Given the description of an element on the screen output the (x, y) to click on. 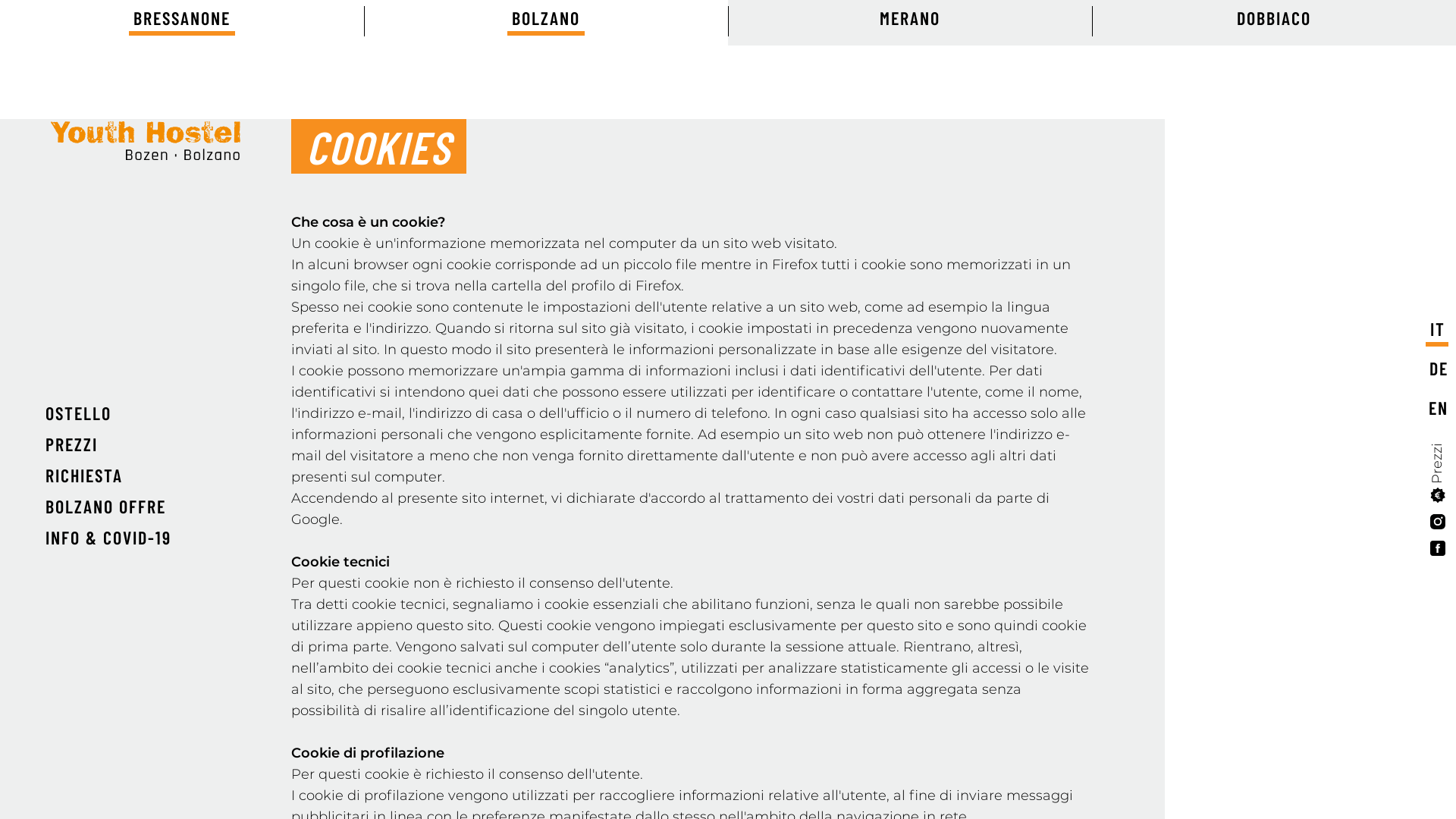
BRESSANONE Element type: text (182, 21)
BOLZANO OFFRE Element type: text (105, 506)
RICHIESTA Element type: text (83, 475)
Instagram Element type: hover (1429, 528)
Facebook Element type: hover (1429, 555)
MERANO Element type: text (910, 21)
PREZZI Element type: text (71, 444)
OSTELLO Element type: text (78, 412)
BOLZANO Element type: text (546, 21)
INFO & COVID-19 Element type: text (107, 537)
